Given the description of an element on the screen output the (x, y) to click on. 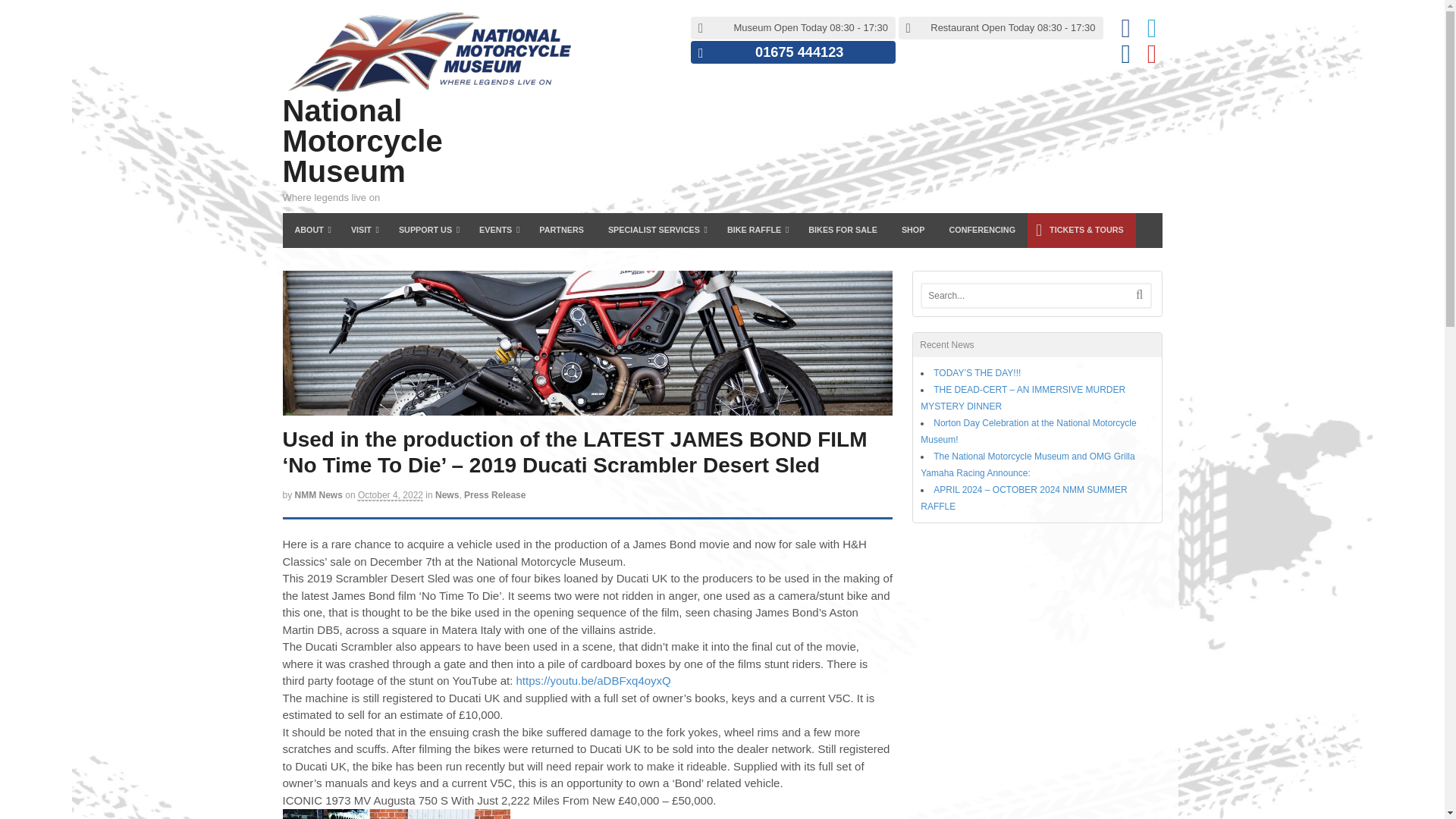
Where legends live on (426, 87)
National Motorcycle Museum (362, 141)
01675 444123 (799, 52)
Search... (1024, 295)
View all items in News (446, 494)
ABOUT (309, 230)
View all items in Press Release (494, 494)
Posts by NMM News (318, 494)
